Given the description of an element on the screen output the (x, y) to click on. 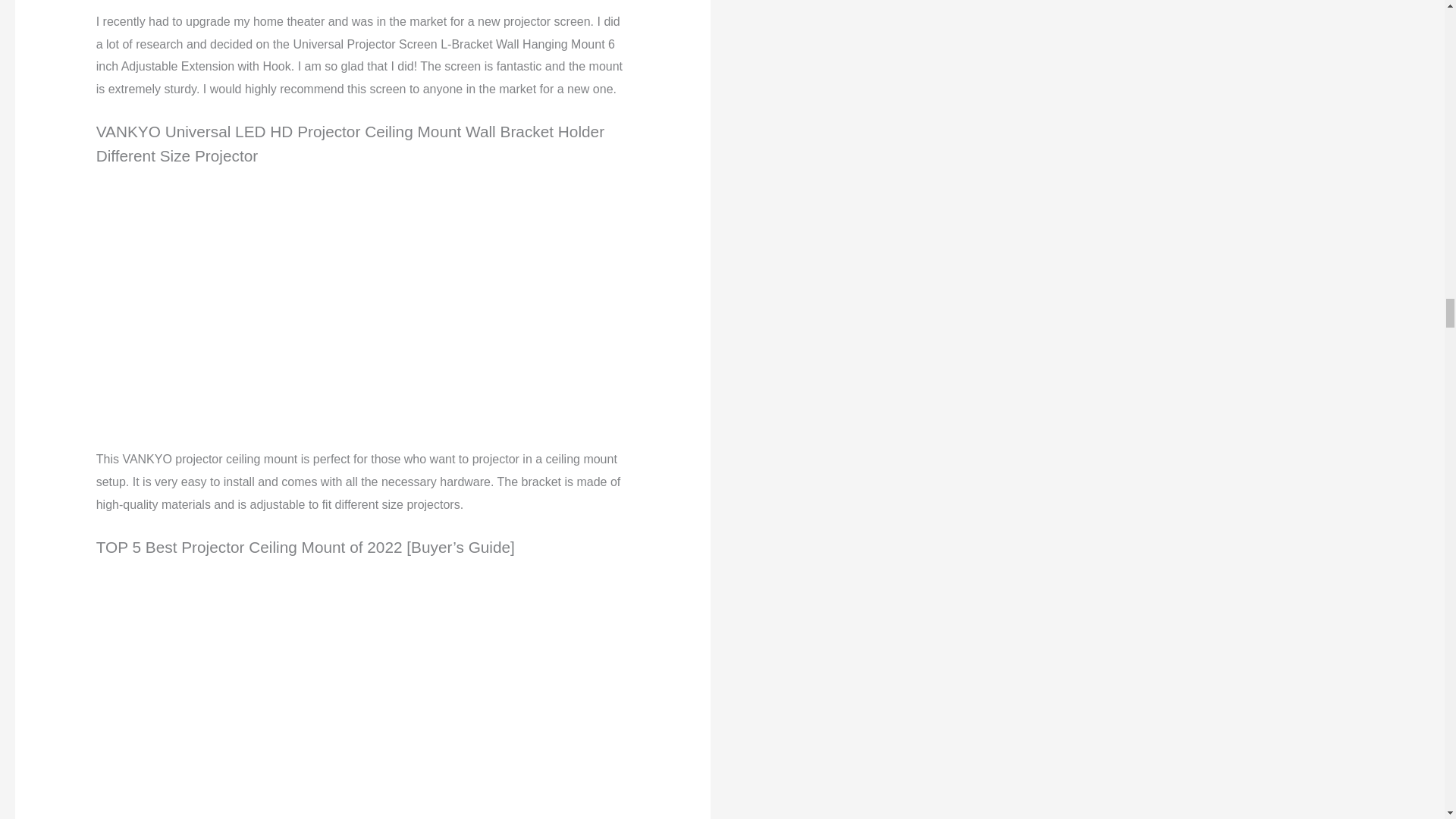
YouTube video player (308, 693)
YouTube video player (308, 301)
